Given the description of an element on the screen output the (x, y) to click on. 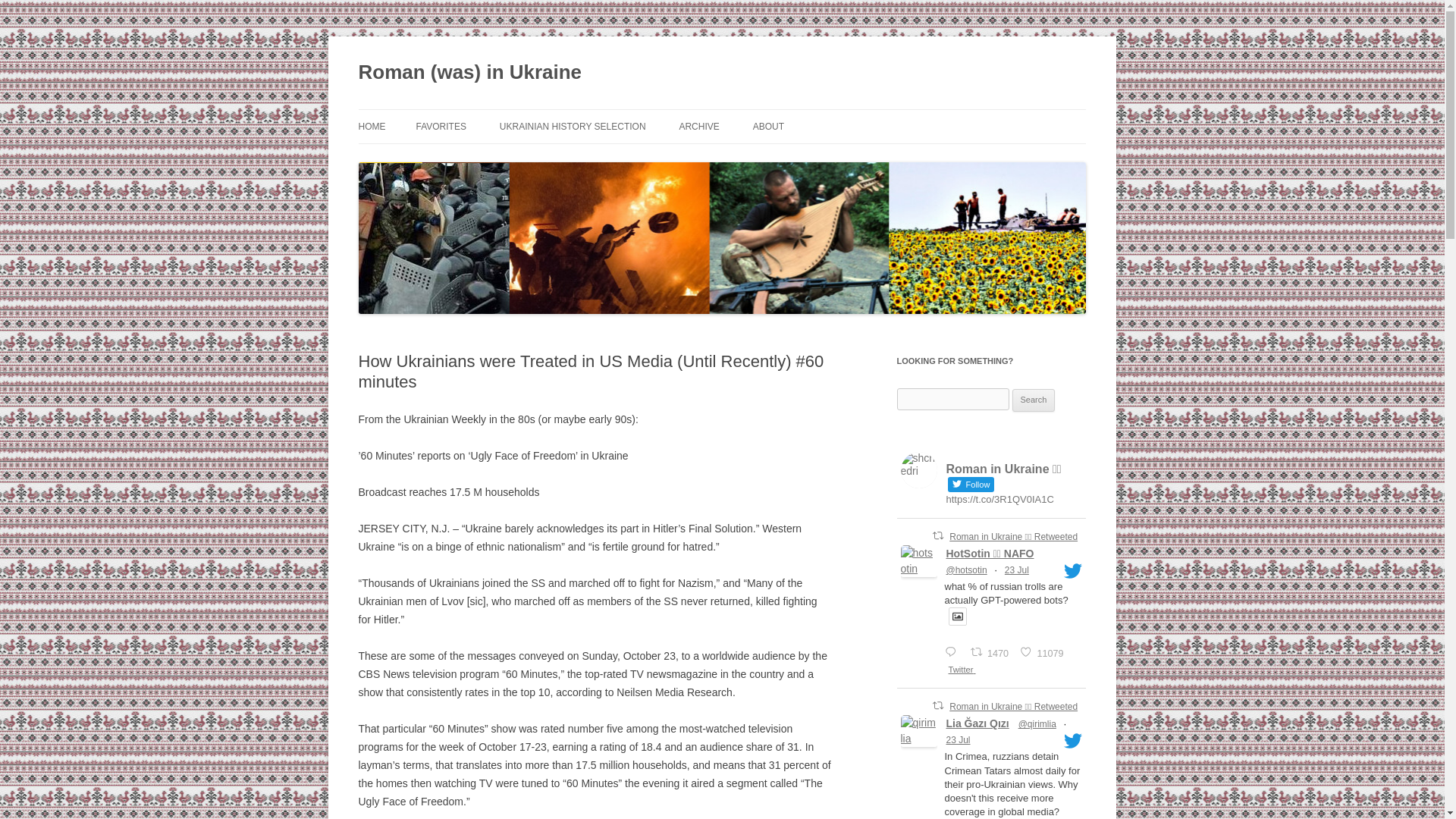
Twitter 1815788952852328774 (964, 669)
Search (1033, 400)
Retweet on Twitter (938, 705)
FAVORITES (439, 126)
ARCHIVE (698, 126)
Skip to content (1043, 651)
23 Jul (958, 739)
Skip to content (1016, 570)
ABOUT (1033, 400)
UKRAINIAN HISTORY SELECTION (991, 651)
Reply on Twitter 1815788952852328774 (768, 126)
